Given the description of an element on the screen output the (x, y) to click on. 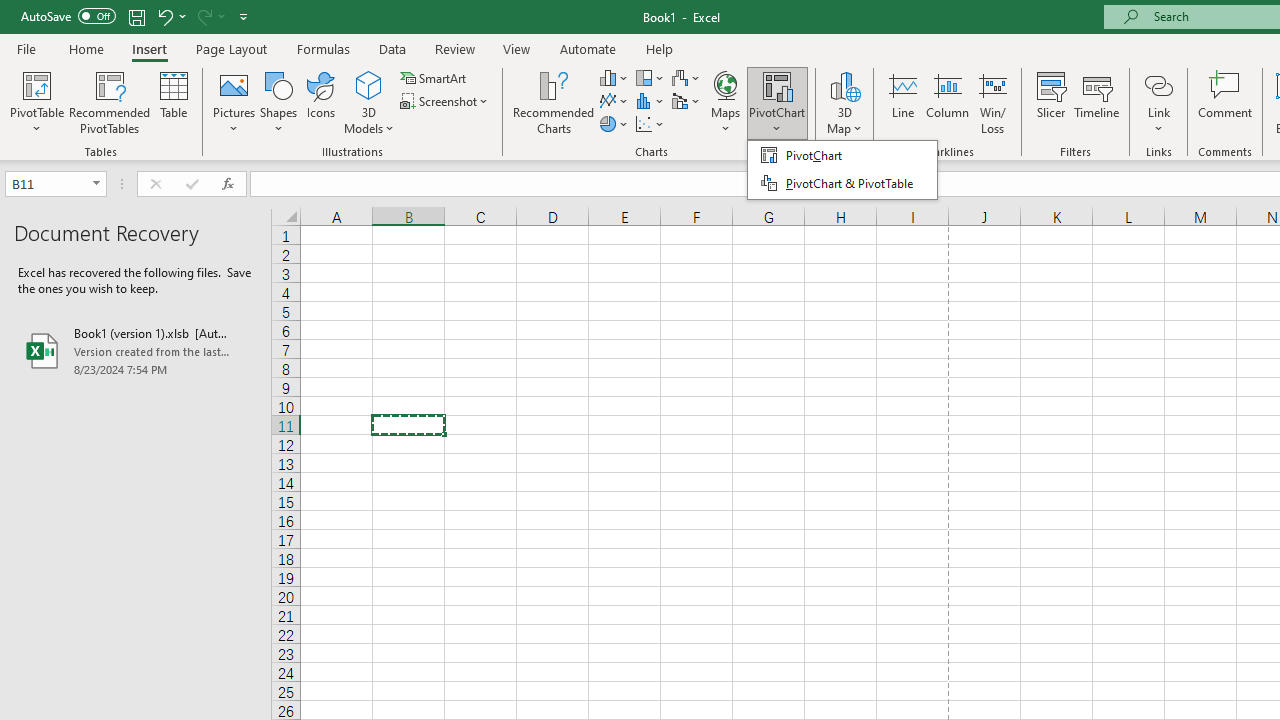
PivotChart (777, 84)
PivotTable (36, 84)
Win/Loss (992, 102)
Timeline (1097, 102)
Shapes (278, 102)
AutoSave (68, 16)
Automate (588, 48)
Insert Scatter (X, Y) or Bubble Chart (651, 124)
3D Map (845, 102)
3D Models (368, 84)
Book1 (version 1).xlsb  [AutoRecovered] (136, 350)
More Options (1158, 121)
Quick Access Toolbar (136, 16)
